Given the description of an element on the screen output the (x, y) to click on. 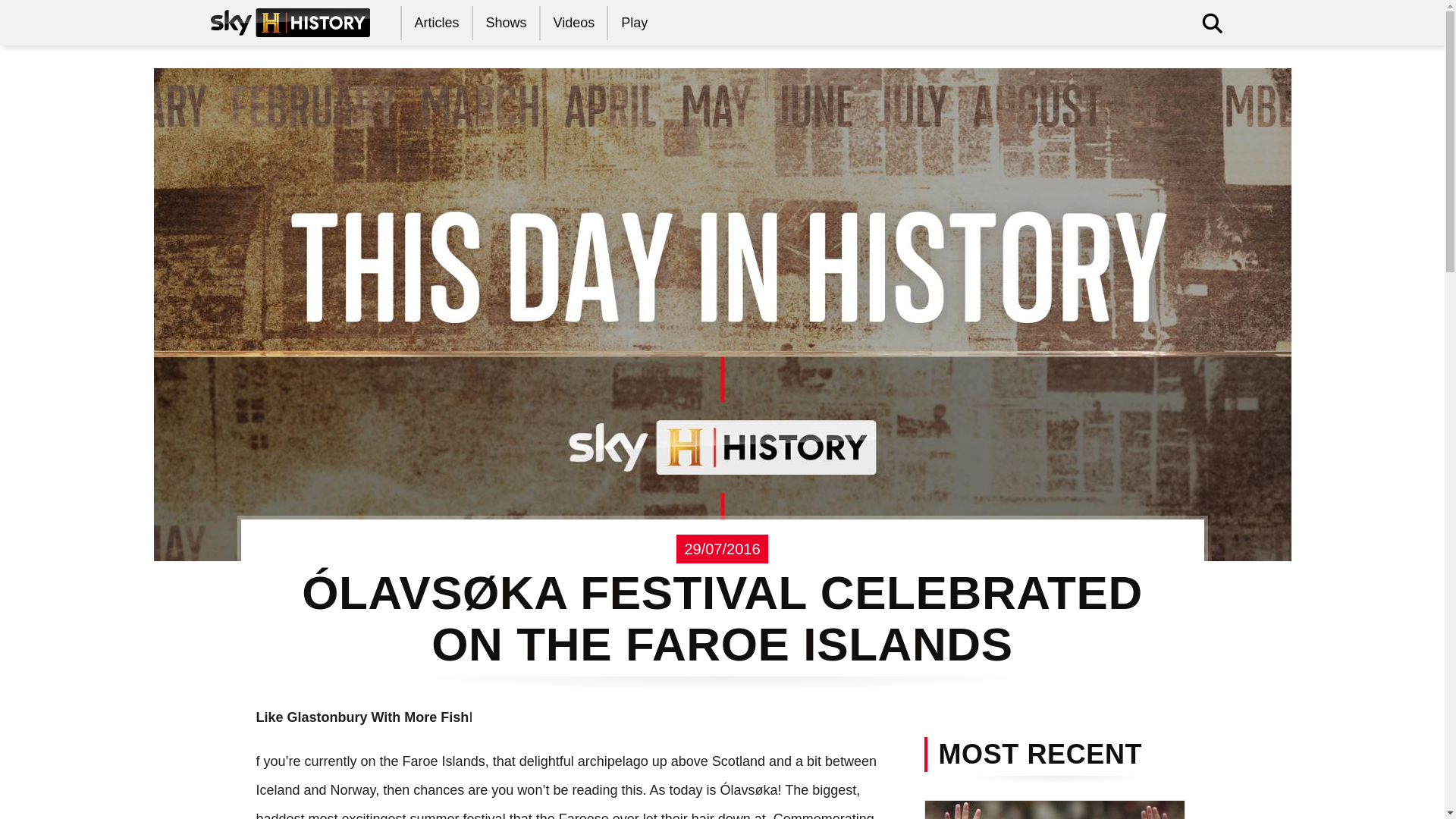
Play (635, 22)
7 most iconic England managers of all time (1054, 809)
Articles (437, 22)
Search (987, 69)
Home (290, 22)
Videos (575, 22)
HISTORY Play - Stream the best of HISTORY (635, 22)
Shows (507, 22)
